Given the description of an element on the screen output the (x, y) to click on. 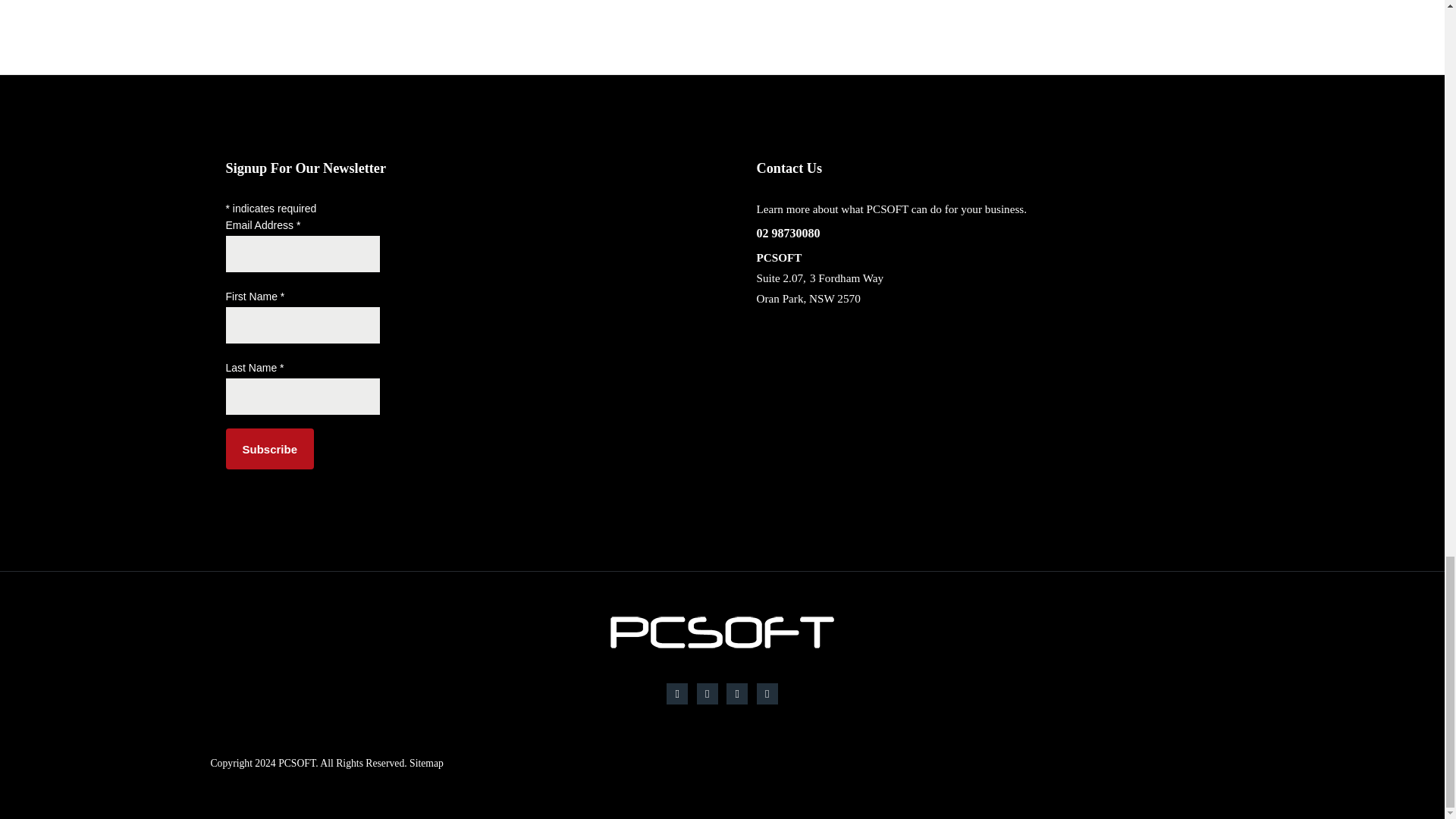
Subscribe (269, 448)
